Given the description of an element on the screen output the (x, y) to click on. 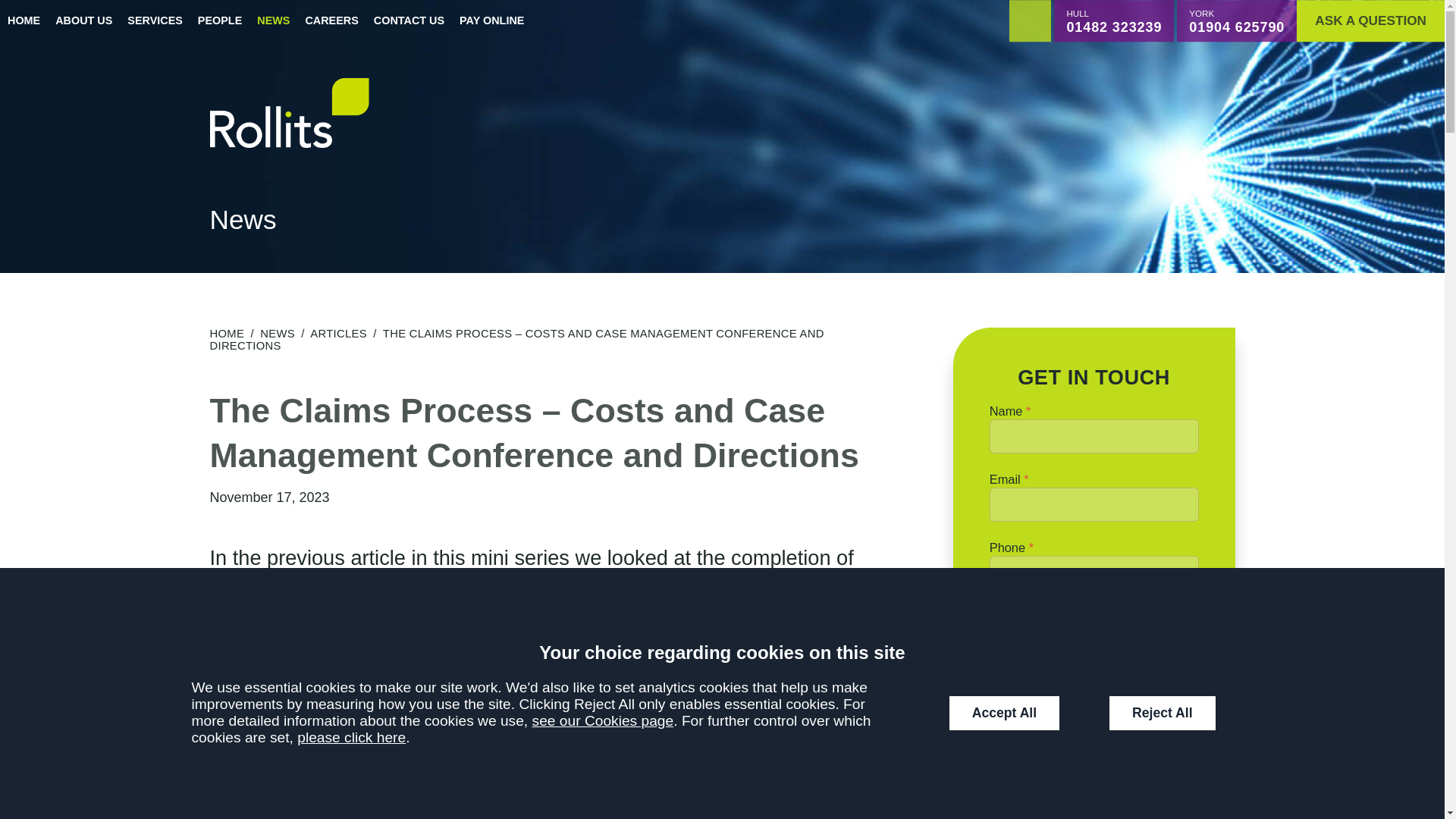
HOME (24, 20)
HOME (226, 333)
Send question (1093, 627)
CAREERS (331, 20)
SERVICES (154, 20)
PEOPLE (219, 20)
NEWS (272, 20)
CONTACT US (408, 20)
01904 625790 (1236, 27)
ABOUT US (83, 20)
01482 323239 (1113, 27)
ARTICLES (338, 333)
PAY ONLINE (491, 20)
NEWS (277, 333)
